Given the description of an element on the screen output the (x, y) to click on. 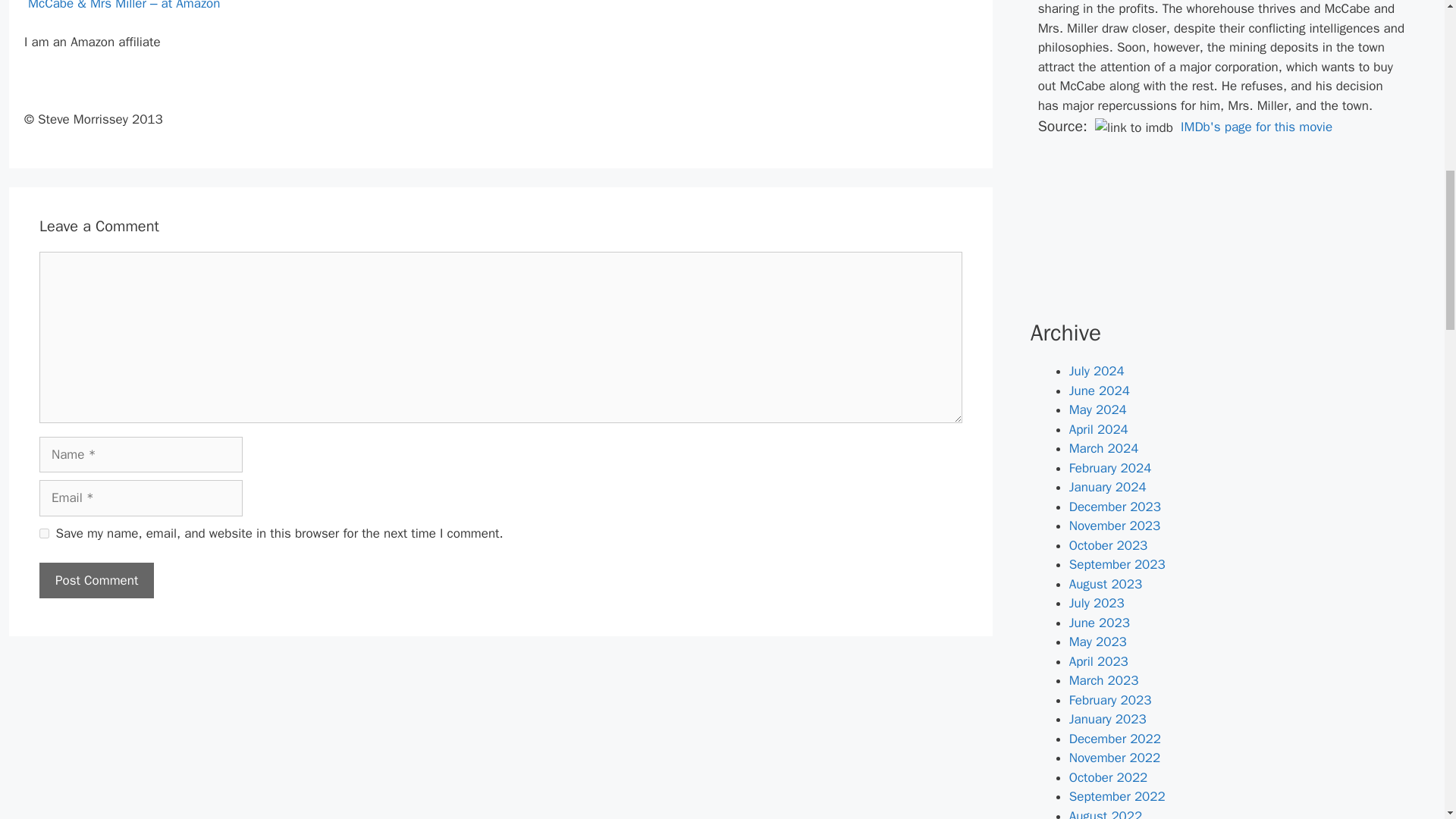
yes (44, 533)
Go to IMDb website for this movie (1252, 126)
Post Comment (96, 580)
Post Comment (96, 580)
